Given the description of an element on the screen output the (x, y) to click on. 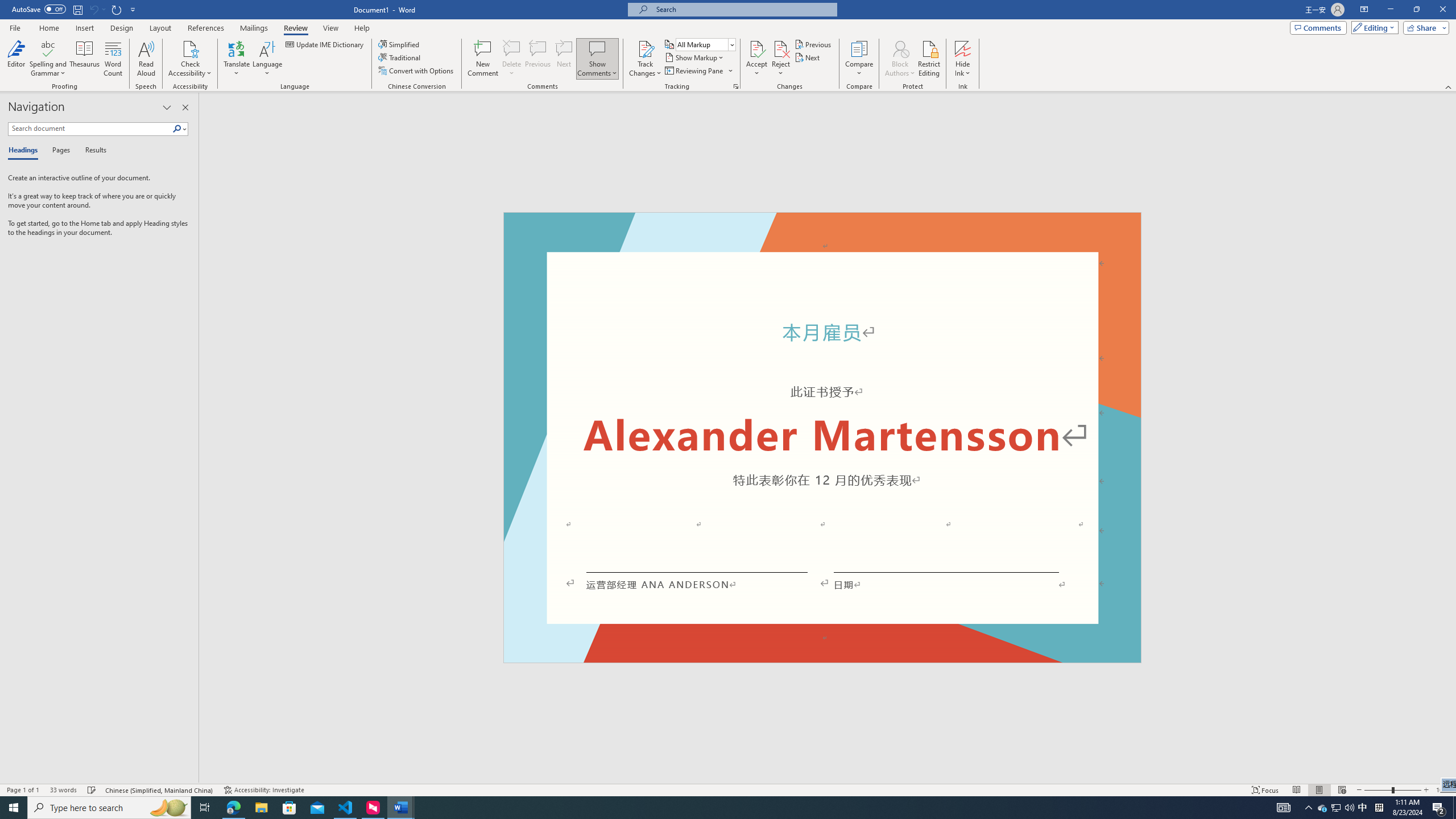
Class: MsoCommandBar (728, 789)
Reviewing Pane (698, 69)
Page 1 content (822, 445)
Page Number Page 1 of 1 (22, 790)
Accept (756, 58)
New Comment (482, 58)
Delete (511, 58)
Language (267, 58)
Track Changes (644, 48)
Traditional (400, 56)
